Given the description of an element on the screen output the (x, y) to click on. 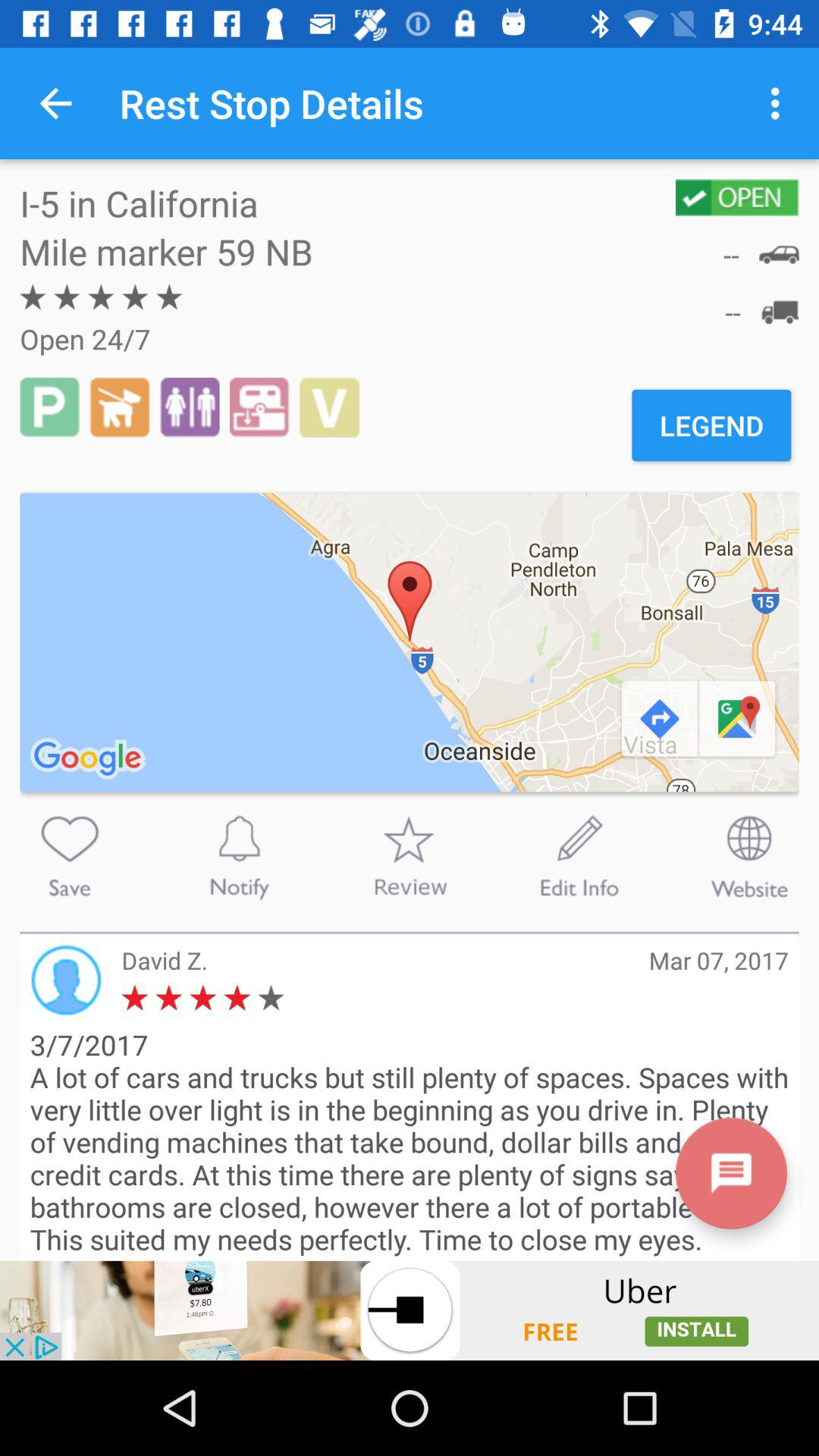
advertisement page (409, 1310)
